Given the description of an element on the screen output the (x, y) to click on. 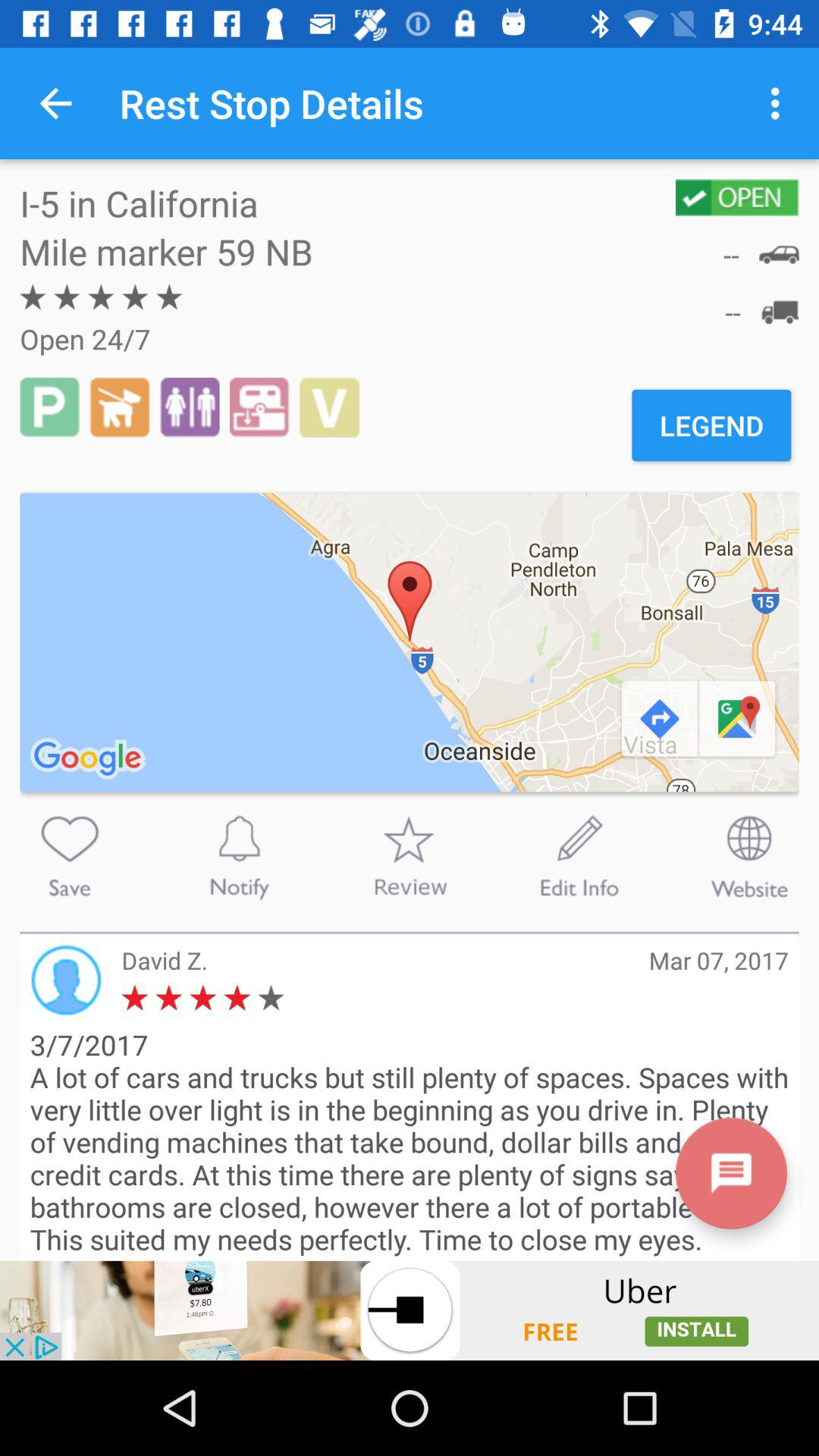
advertisement page (409, 1310)
